Given the description of an element on the screen output the (x, y) to click on. 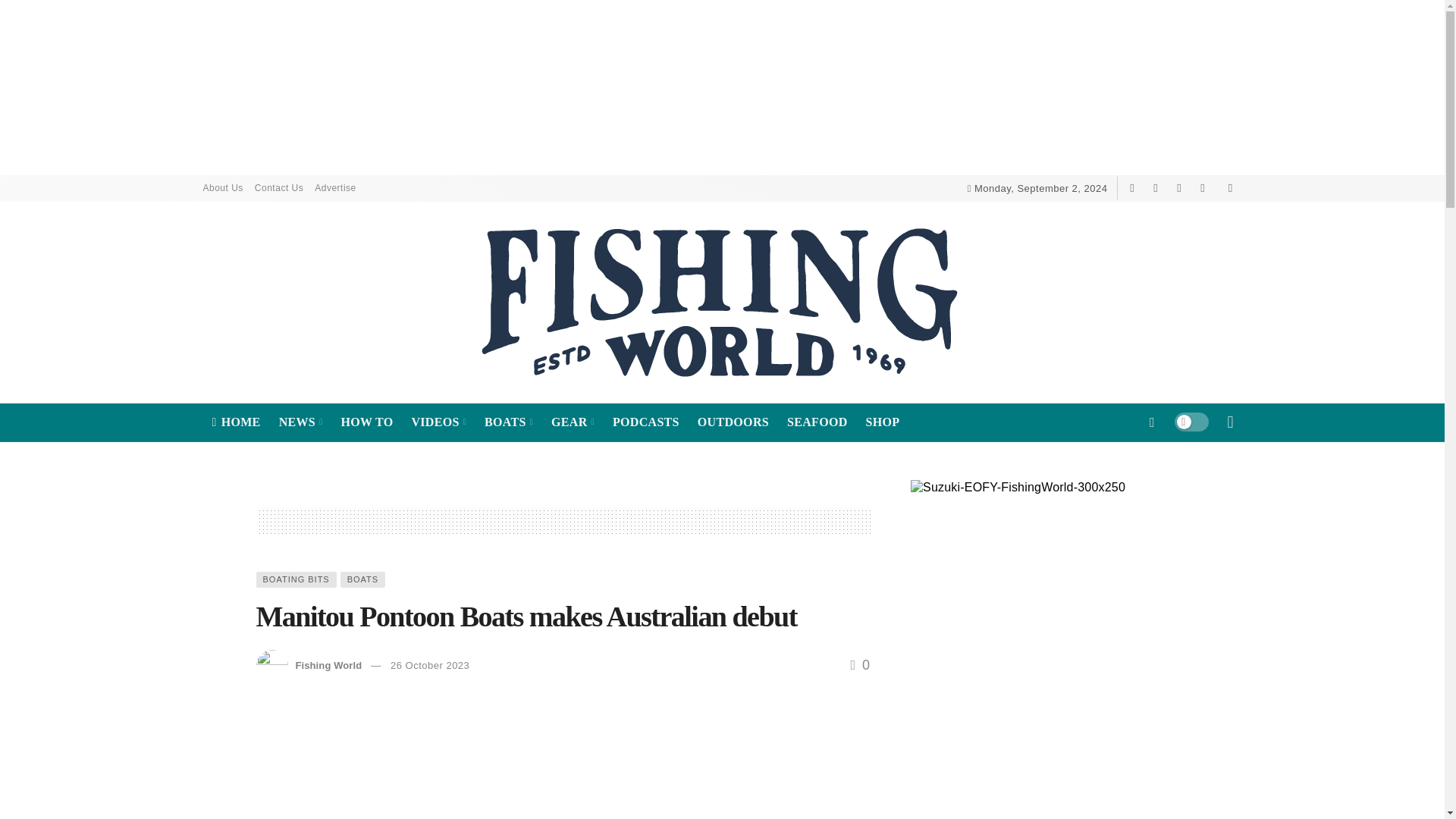
GEAR (572, 422)
NEWS (300, 422)
SEAFOOD (817, 422)
About Us (228, 188)
VIDEOS (438, 422)
SHOP (882, 422)
PODCASTS (646, 422)
BOATS (508, 422)
Contact Us (284, 188)
OUTDOORS (732, 422)
